Given the description of an element on the screen output the (x, y) to click on. 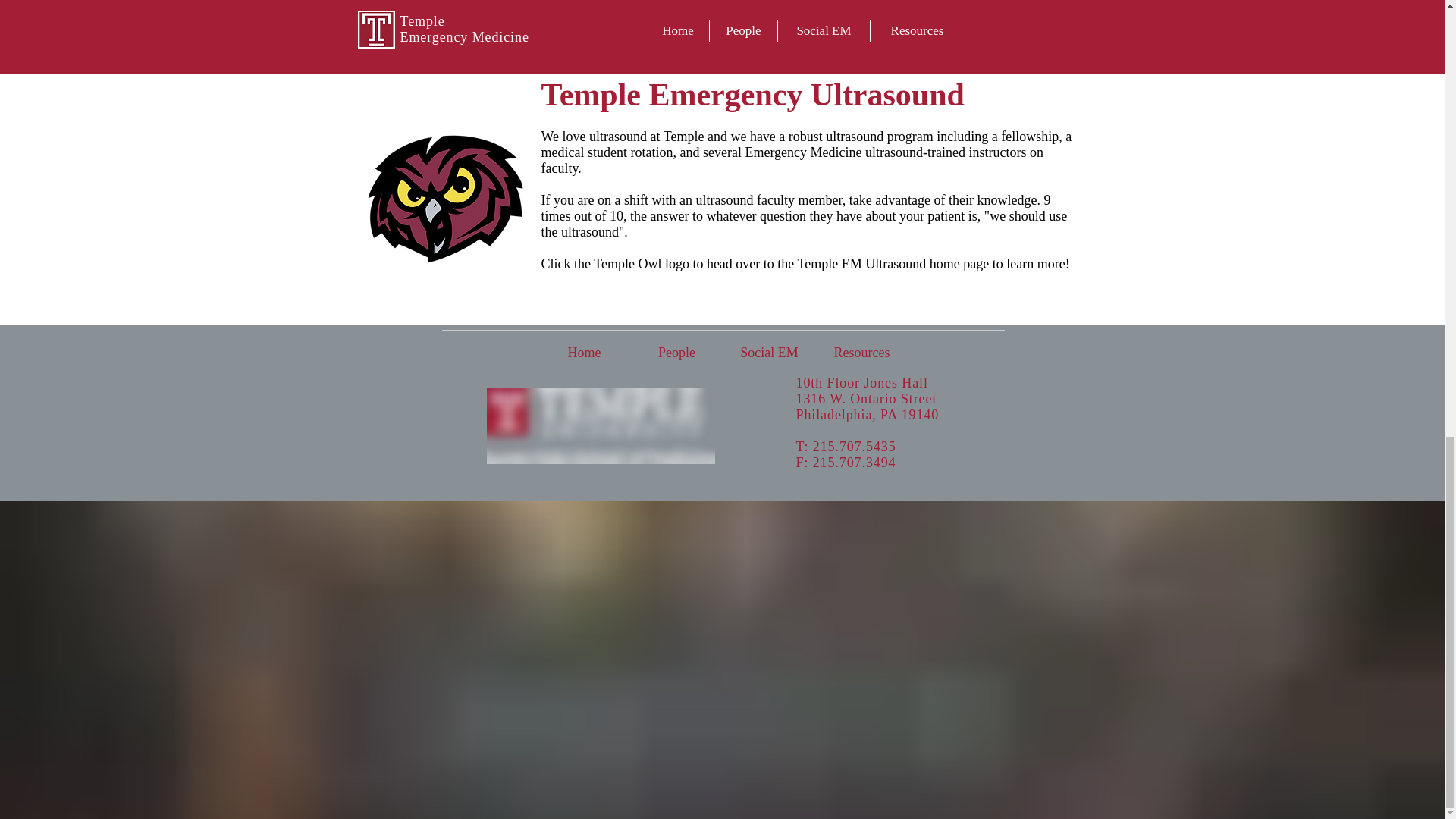
Home (584, 352)
